Given the description of an element on the screen output the (x, y) to click on. 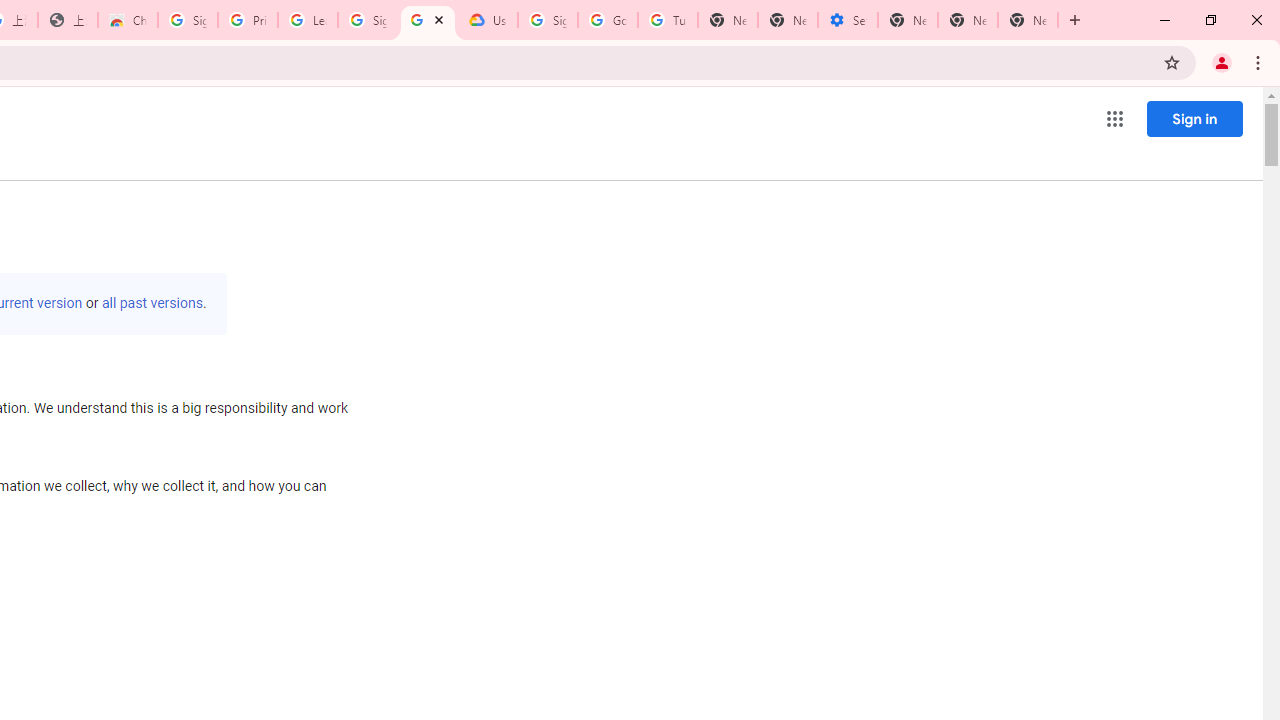
New Tab (1028, 20)
Settings - Addresses and more (847, 20)
Turn cookies on or off - Computer - Google Account Help (667, 20)
Sign in - Google Accounts (187, 20)
Google Account Help (607, 20)
New Tab (908, 20)
